Given the description of an element on the screen output the (x, y) to click on. 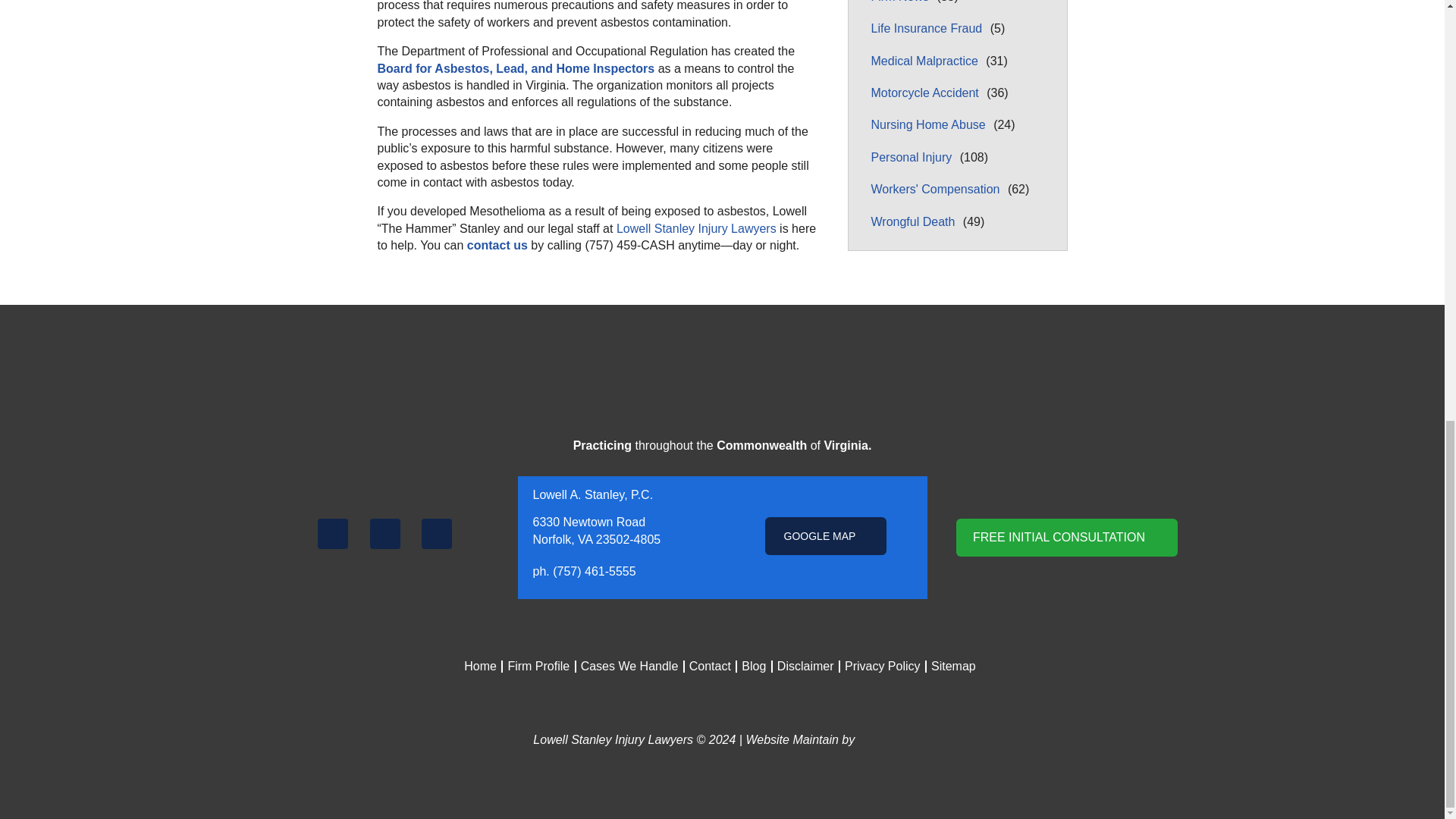
Lowell Stanley Injury Lawyers (695, 228)
Board for Asbestos, Lead, and Home Inspectors (516, 68)
contact us (497, 245)
